Given the description of an element on the screen output the (x, y) to click on. 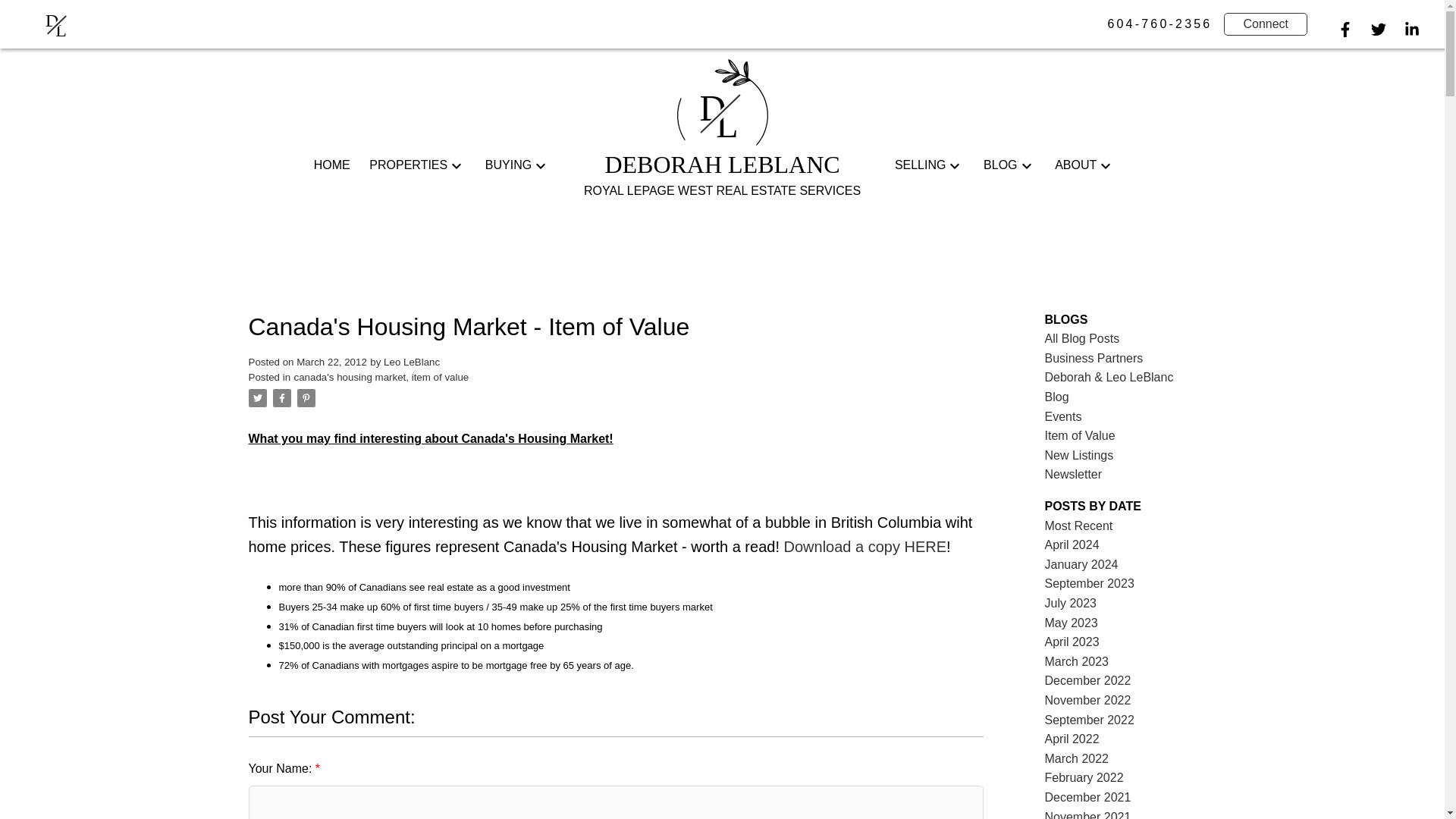
BUYING (507, 165)
ABOUT (1075, 165)
SELLING (920, 165)
HOME (332, 165)
BLOG (57, 24)
PROPERTIES (1000, 165)
Connect (407, 165)
